Given the description of an element on the screen output the (x, y) to click on. 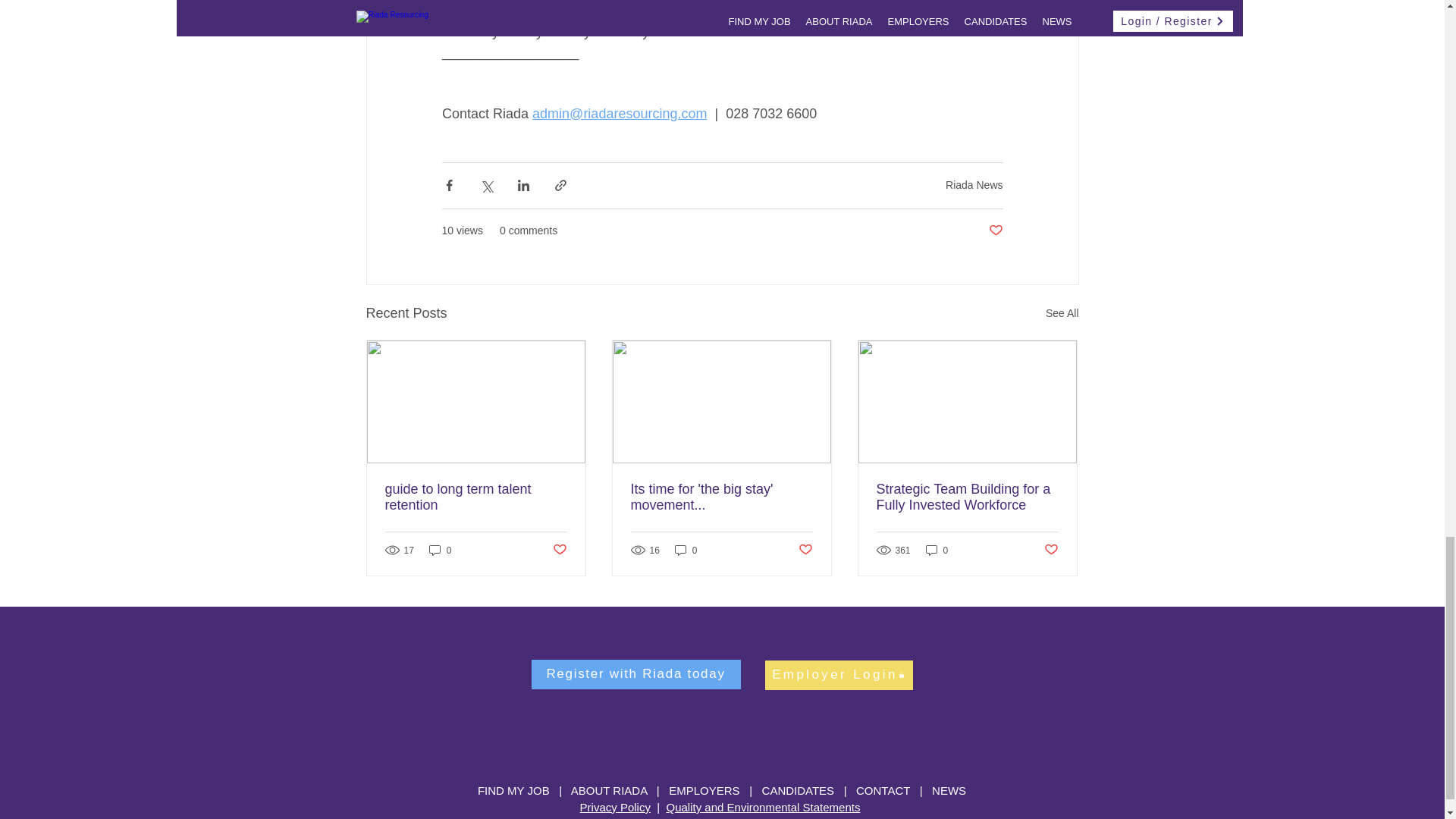
See All (1061, 313)
guide to long term talent retention (476, 497)
Riada News (973, 184)
Post not marked as liked (995, 230)
